Given the description of an element on the screen output the (x, y) to click on. 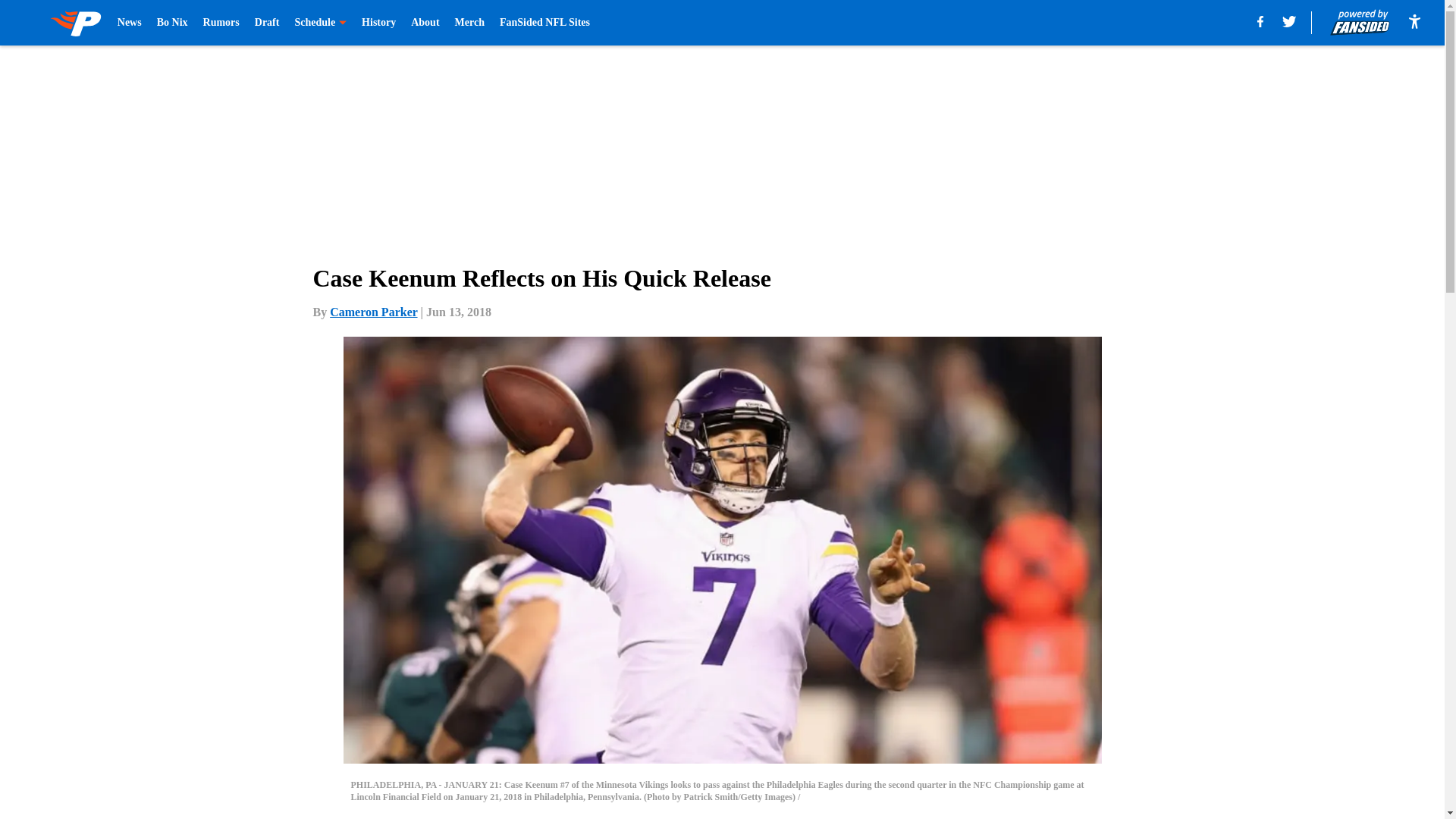
History (378, 22)
Rumors (221, 22)
Draft (266, 22)
About (424, 22)
Merch (469, 22)
Cameron Parker (373, 311)
Bo Nix (172, 22)
News (129, 22)
FanSided NFL Sites (544, 22)
